Given the description of an element on the screen output the (x, y) to click on. 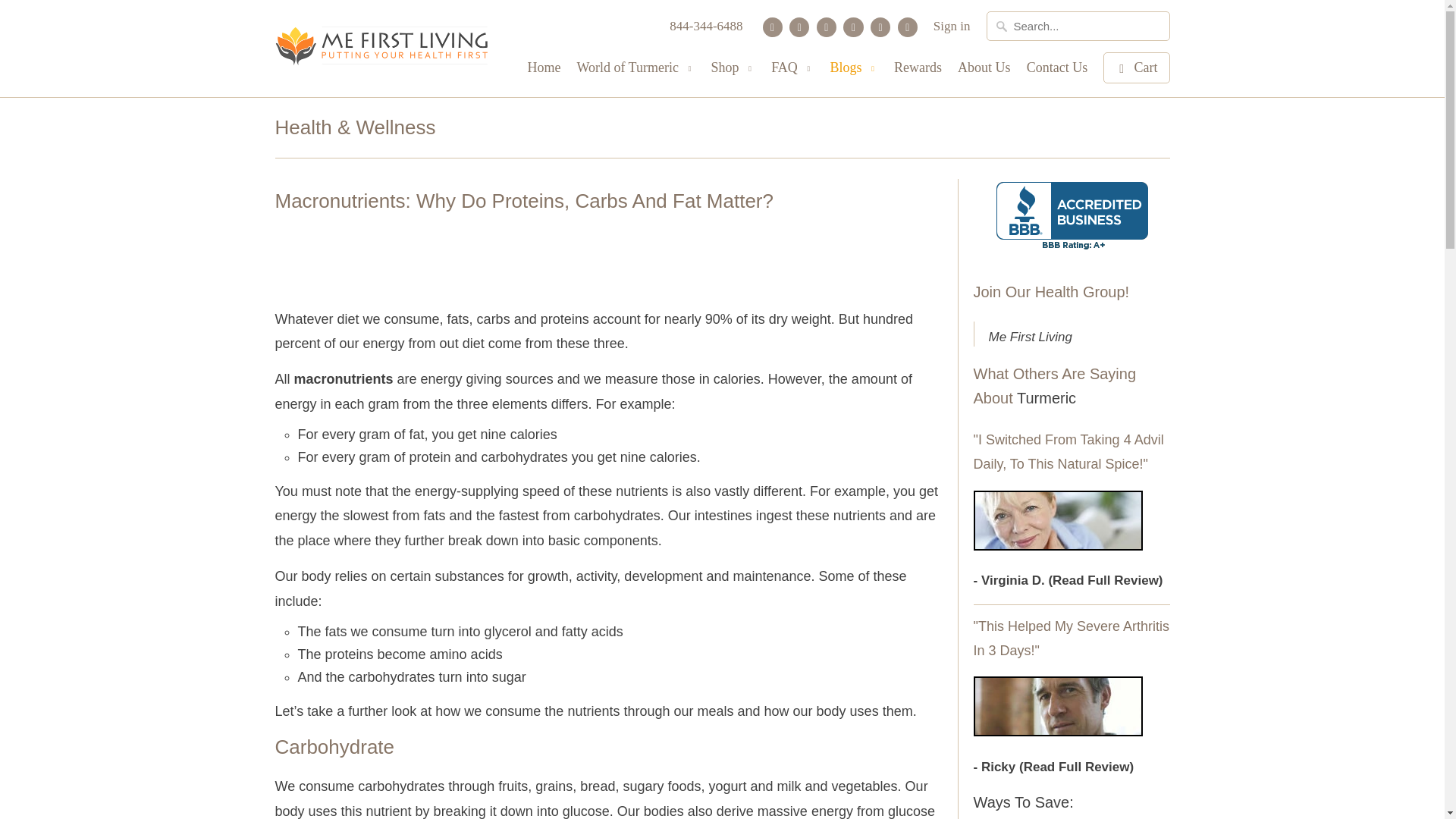
Me First Living on Pinterest (853, 26)
Me First Living on Instagram (879, 26)
844-344-6488 (705, 29)
Me First Living on YouTube (825, 26)
Me First Living on Facebook (799, 26)
Cart (1136, 67)
Home (543, 70)
Shop (733, 72)
Me First Living on Twitter (772, 26)
Search Input Field (1077, 25)
Sign in (952, 29)
Me First Living (380, 48)
World of Turmeric (635, 72)
Blogs (853, 72)
FAQ (792, 72)
